Given the description of an element on the screen output the (x, y) to click on. 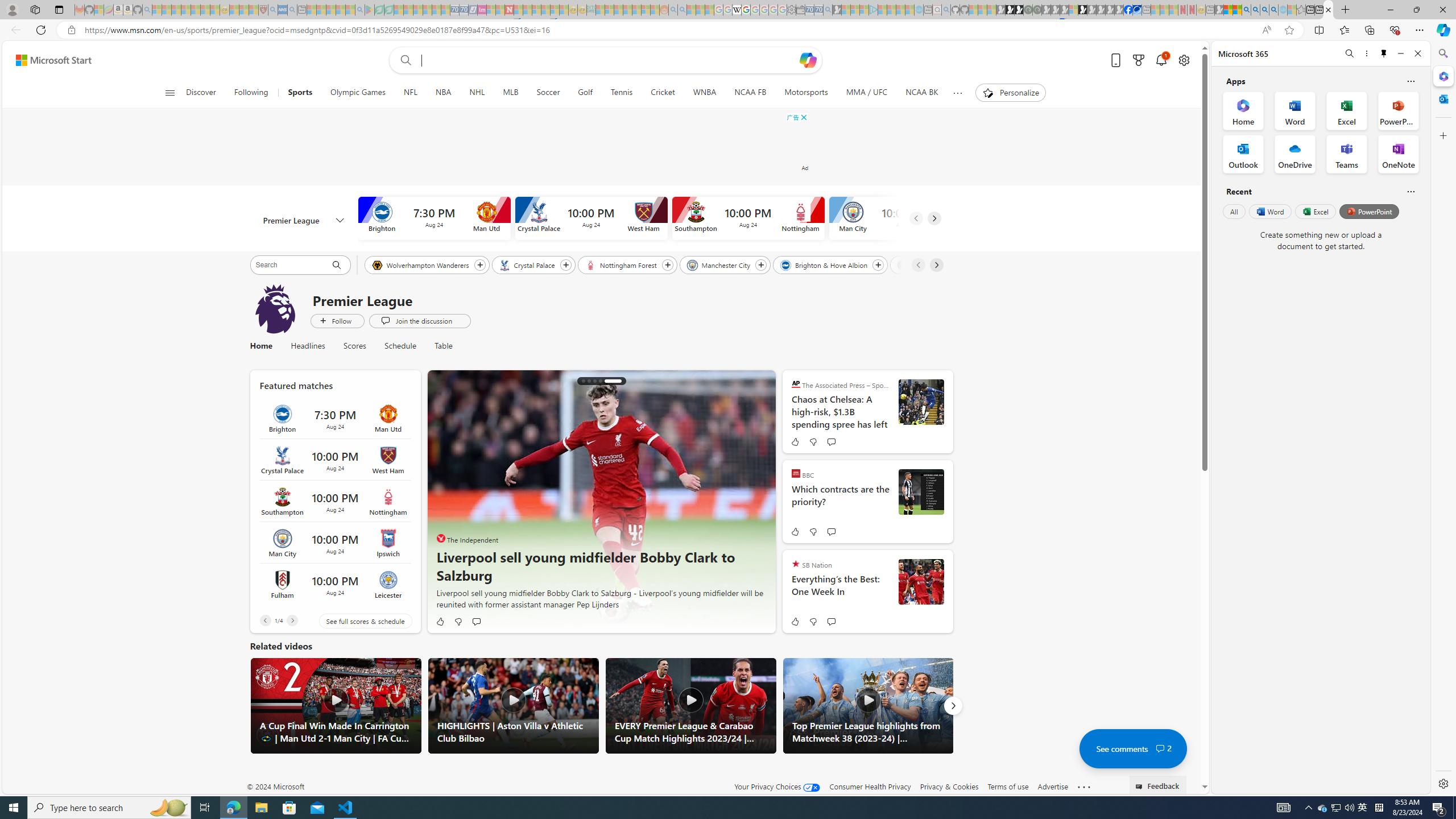
NBA (443, 92)
next (760, 501)
See full scores & schedule (356, 620)
AutomationID: cbb (803, 117)
MMA / UFC (866, 92)
Brighton & Hove Albion (824, 264)
All (1233, 210)
